Given the description of an element on the screen output the (x, y) to click on. 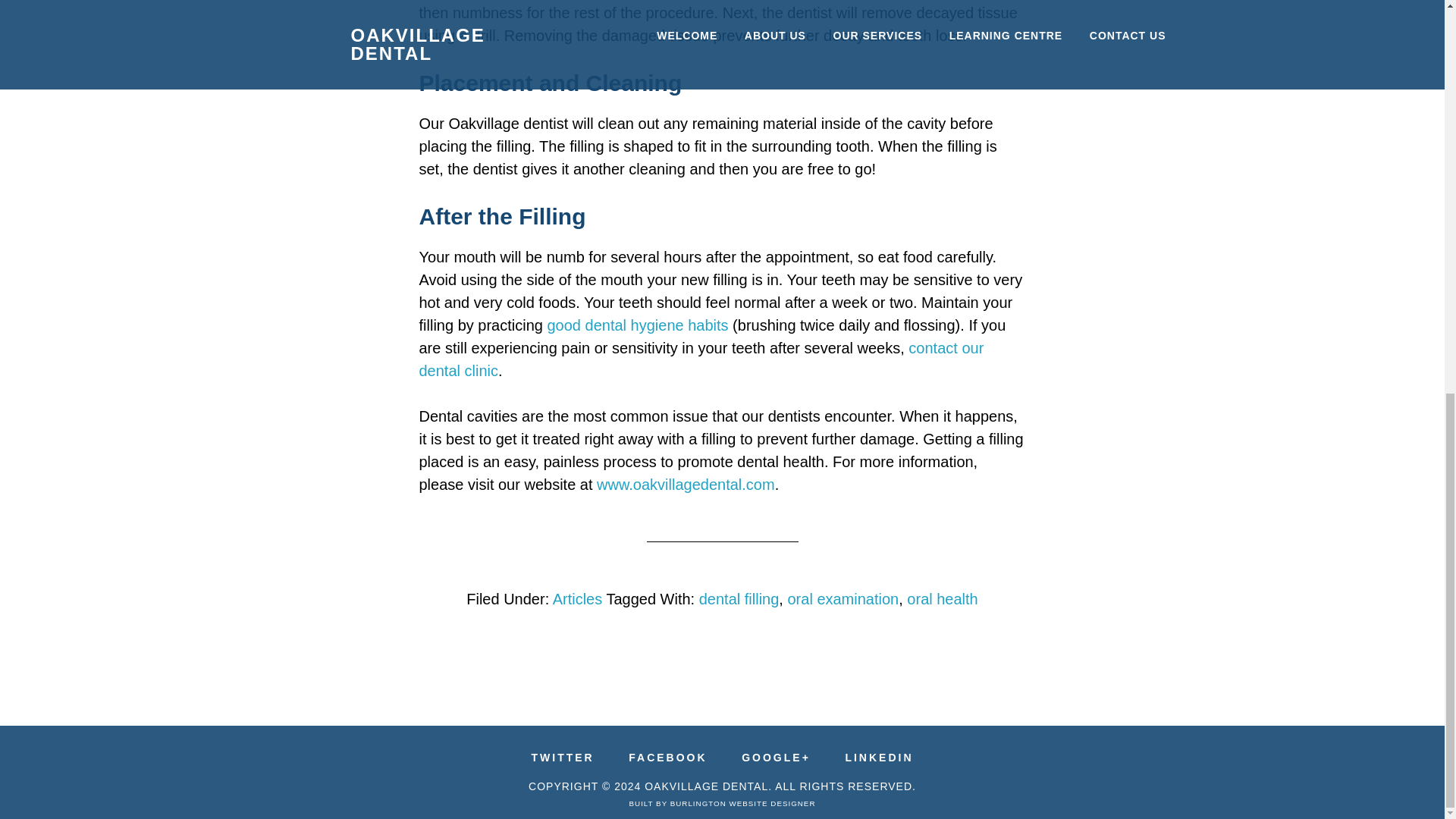
Build4U Websites by RCC Graphic Designs (742, 803)
TWITTER (562, 757)
dental filling (738, 598)
oral health (941, 598)
BURLINGTON WEBSITE DESIGNER (742, 803)
Articles (577, 598)
OAKVILLAGE DENTAL (706, 786)
good dental hygiene habits (637, 324)
LINKEDIN (878, 757)
contact our dental clinic (701, 359)
